Given the description of an element on the screen output the (x, y) to click on. 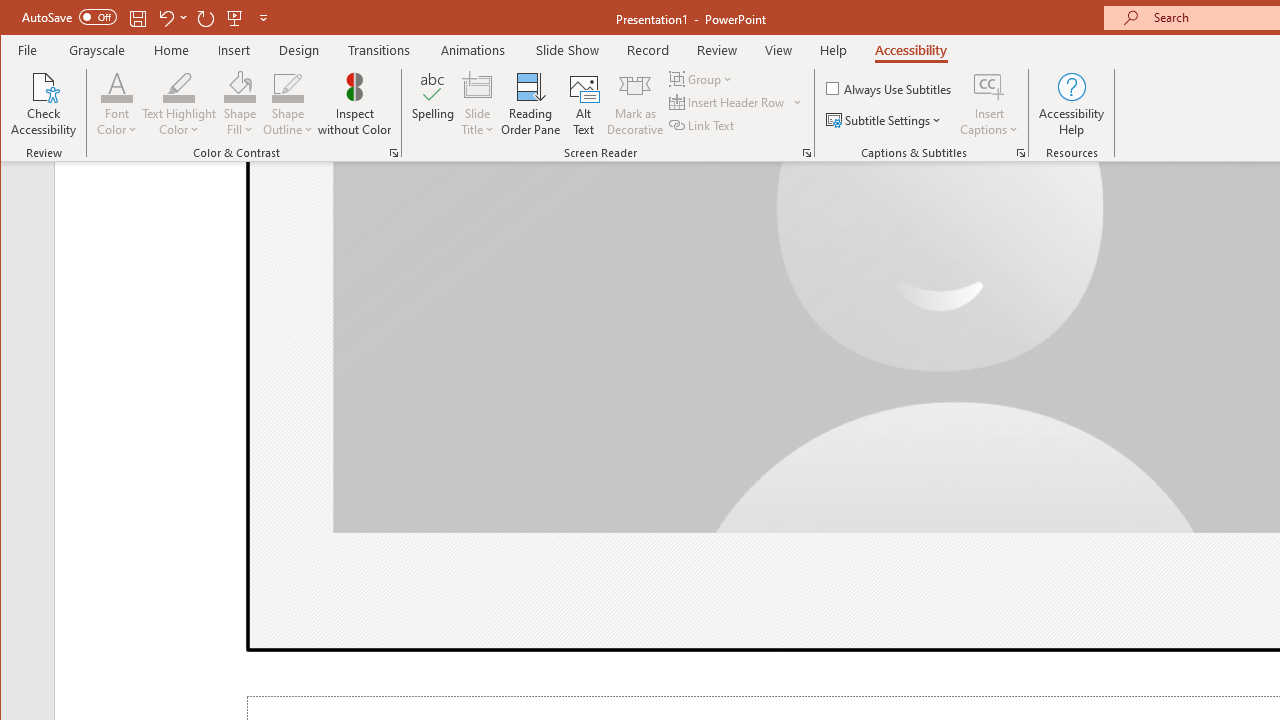
Check Accessibility (43, 104)
Insert Captions (989, 86)
Slide Title (477, 104)
Font Color (116, 86)
